Given the description of an element on the screen output the (x, y) to click on. 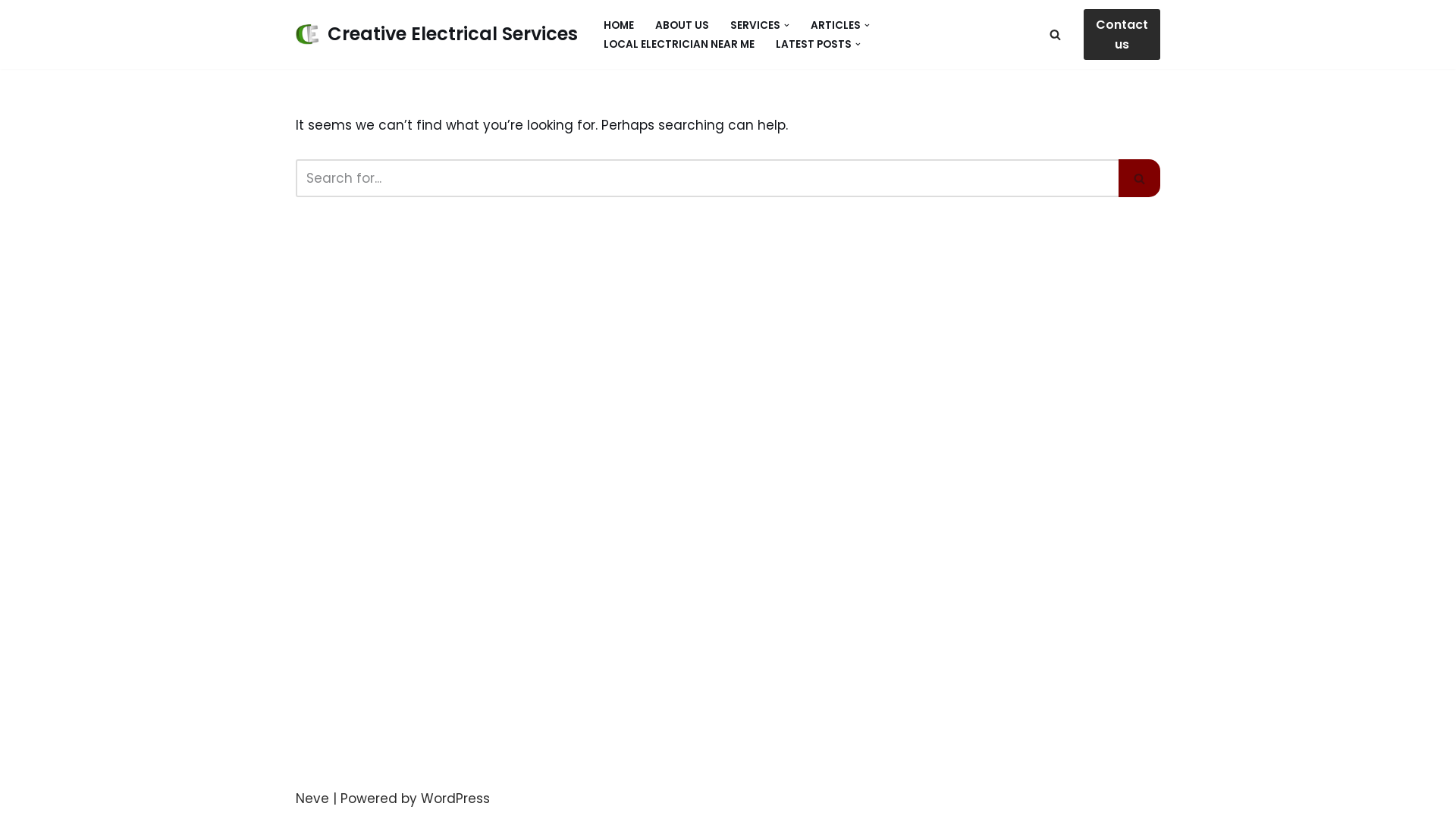
SERVICES Element type: text (755, 24)
LOCAL ELECTRICIAN NEAR ME Element type: text (678, 43)
Neve Element type: text (312, 798)
HOME Element type: text (618, 24)
ARTICLES Element type: text (835, 24)
Contact us Element type: text (1121, 34)
Skip to content Element type: text (11, 31)
ABOUT US Element type: text (682, 24)
Creative Electrical Services Element type: text (436, 34)
WordPress Element type: text (454, 798)
LATEST POSTS Element type: text (813, 43)
